Given the description of an element on the screen output the (x, y) to click on. 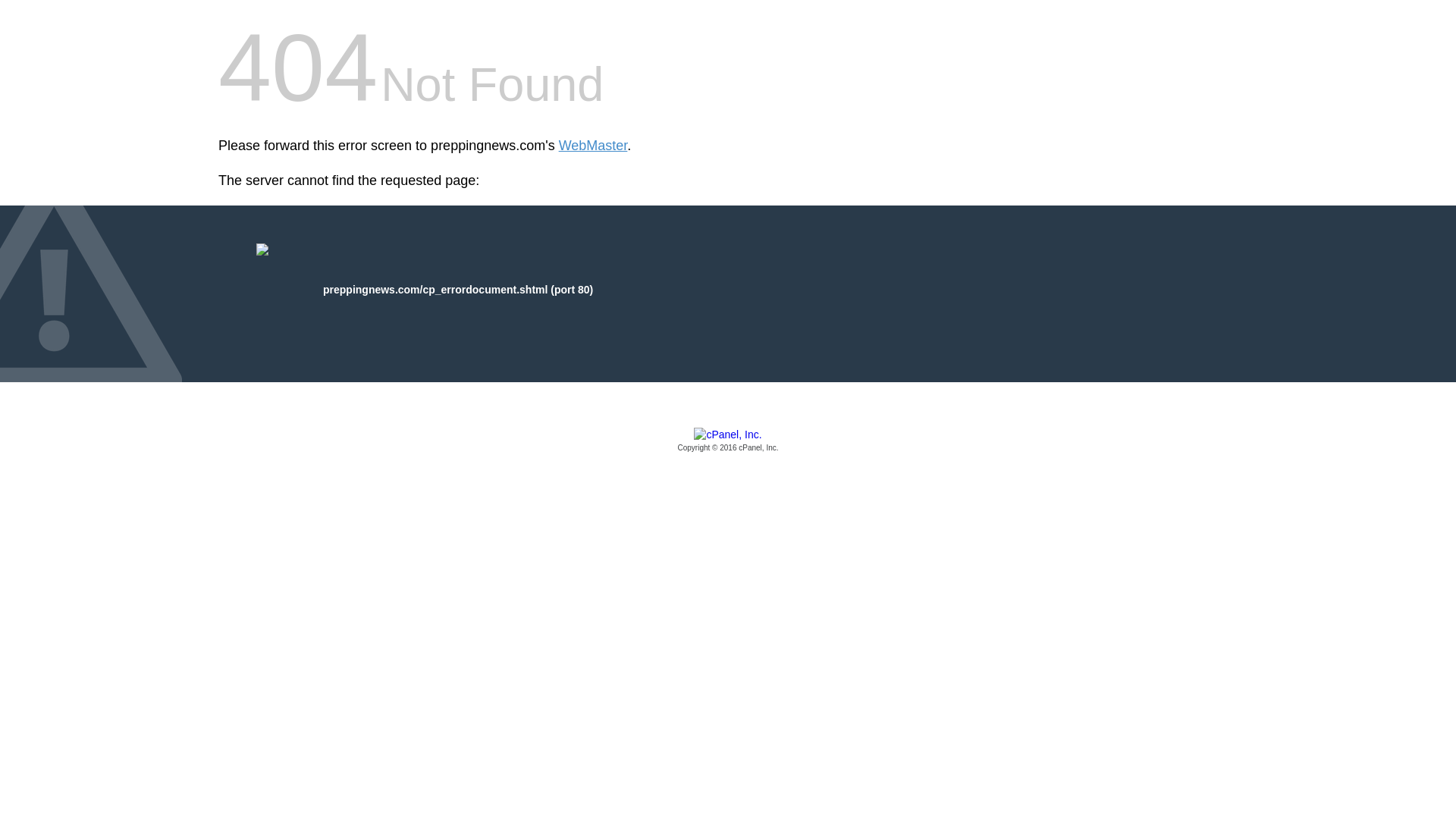
WebMaster (593, 145)
cPanel, Inc. (727, 440)
